Given the description of an element on the screen output the (x, y) to click on. 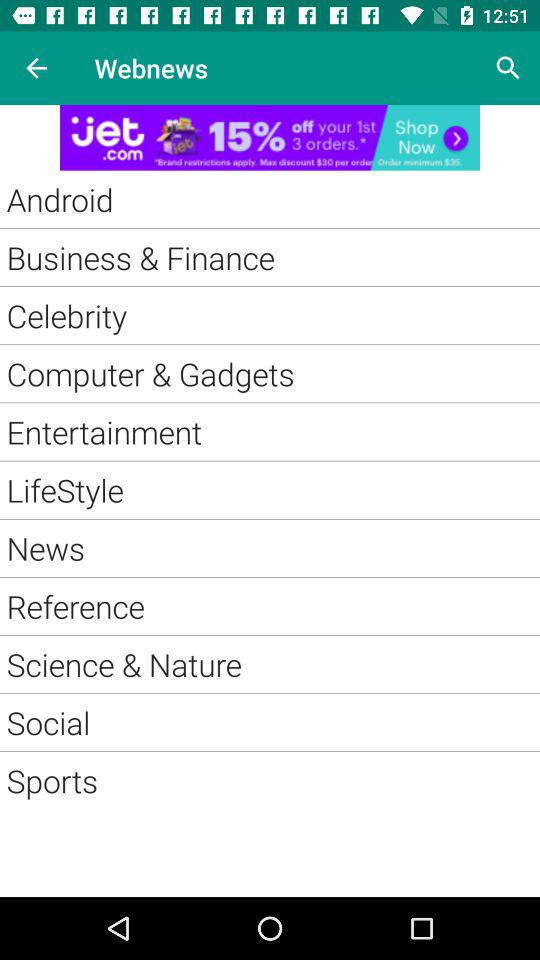
search apps (508, 67)
